Given the description of an element on the screen output the (x, y) to click on. 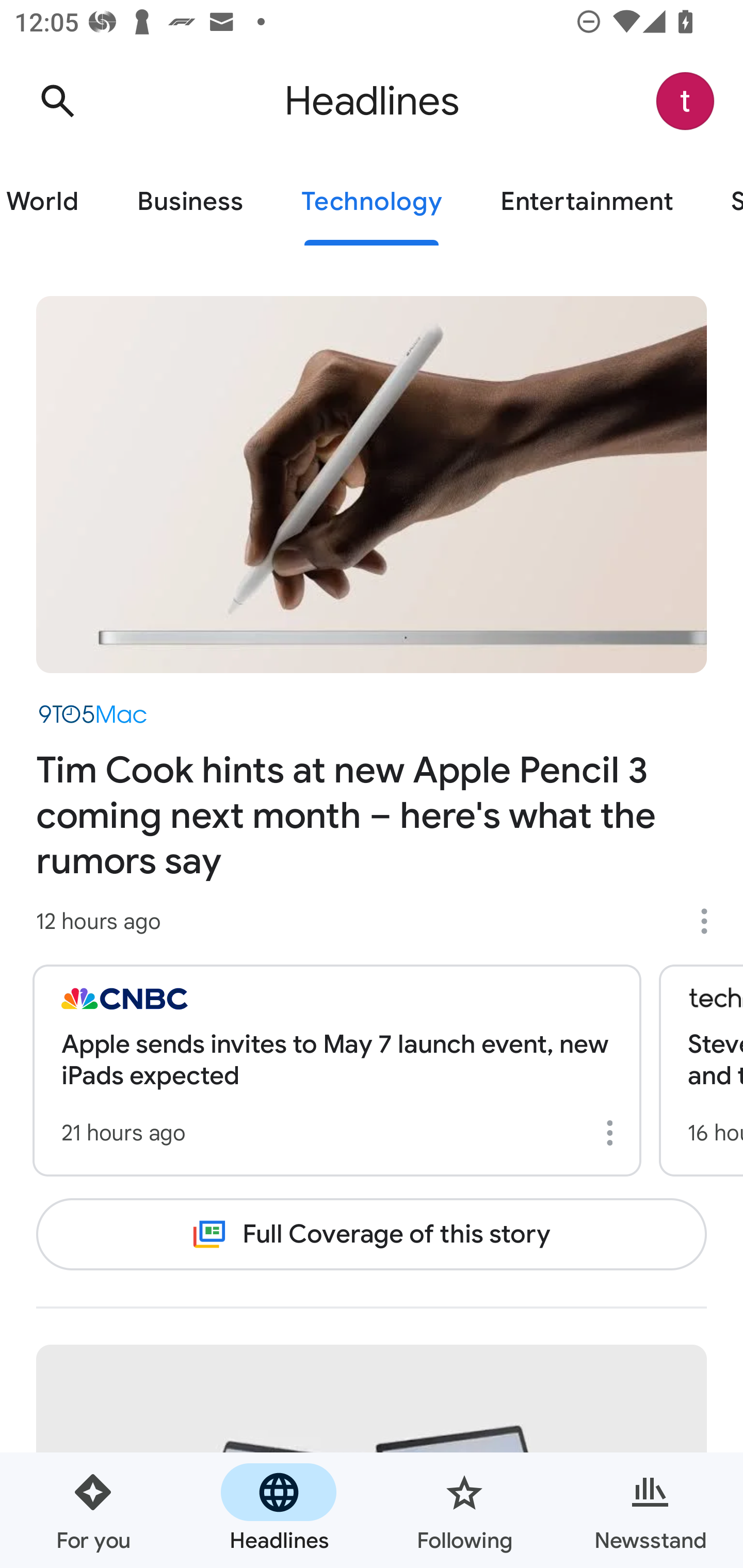
Search (57, 100)
World (53, 202)
Business (189, 202)
Entertainment (586, 202)
More options (711, 921)
More options (613, 1132)
Full Coverage of this story (371, 1233)
For you (92, 1509)
Headlines (278, 1509)
Following (464, 1509)
Newsstand (650, 1509)
